Given the description of an element on the screen output the (x, y) to click on. 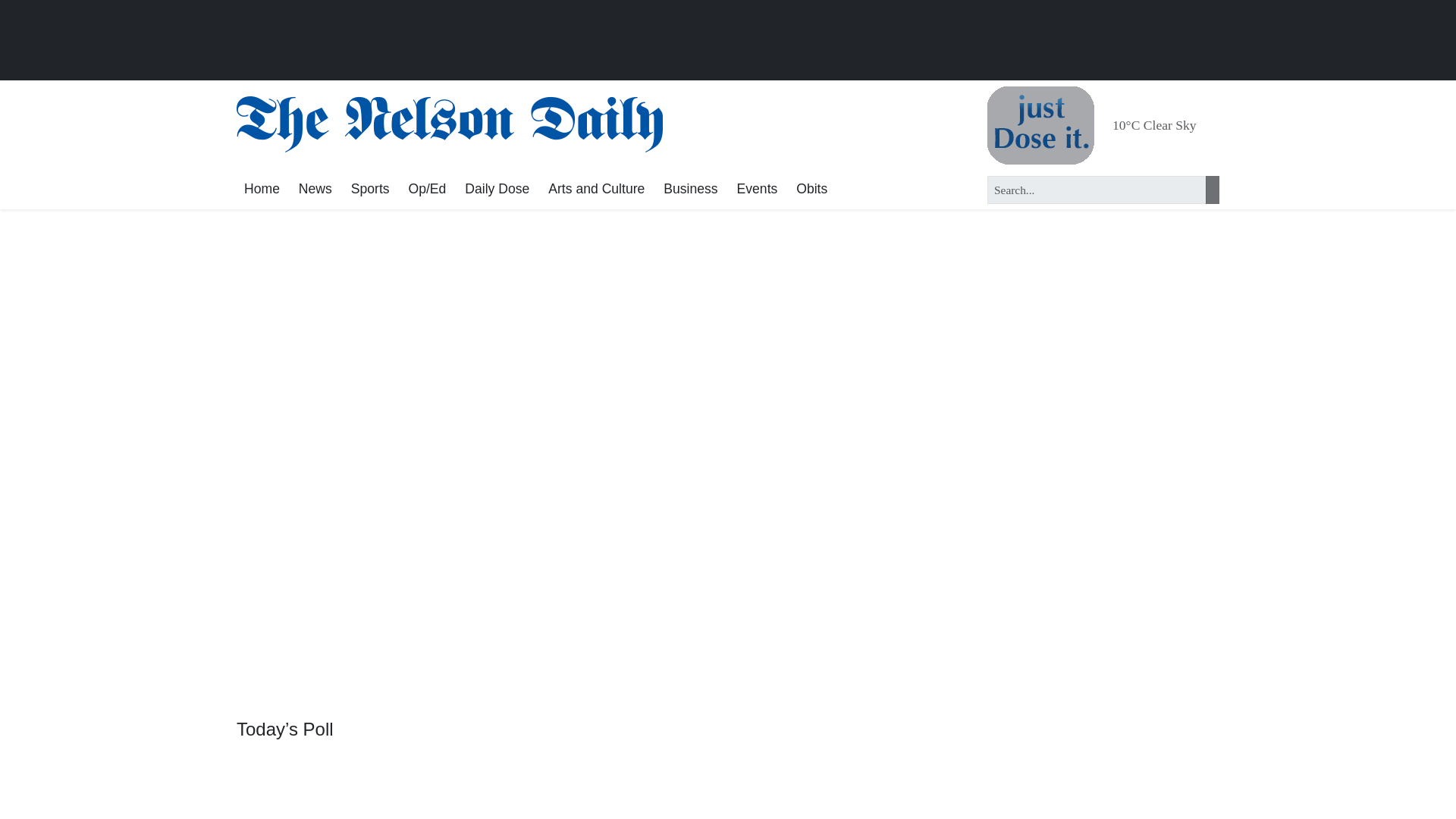
Sports (370, 189)
Events (757, 189)
Arts and Culture (596, 189)
Home (260, 189)
Obits (811, 189)
Daily Dose (497, 189)
News (315, 189)
Business (690, 189)
